Given the description of an element on the screen output the (x, y) to click on. 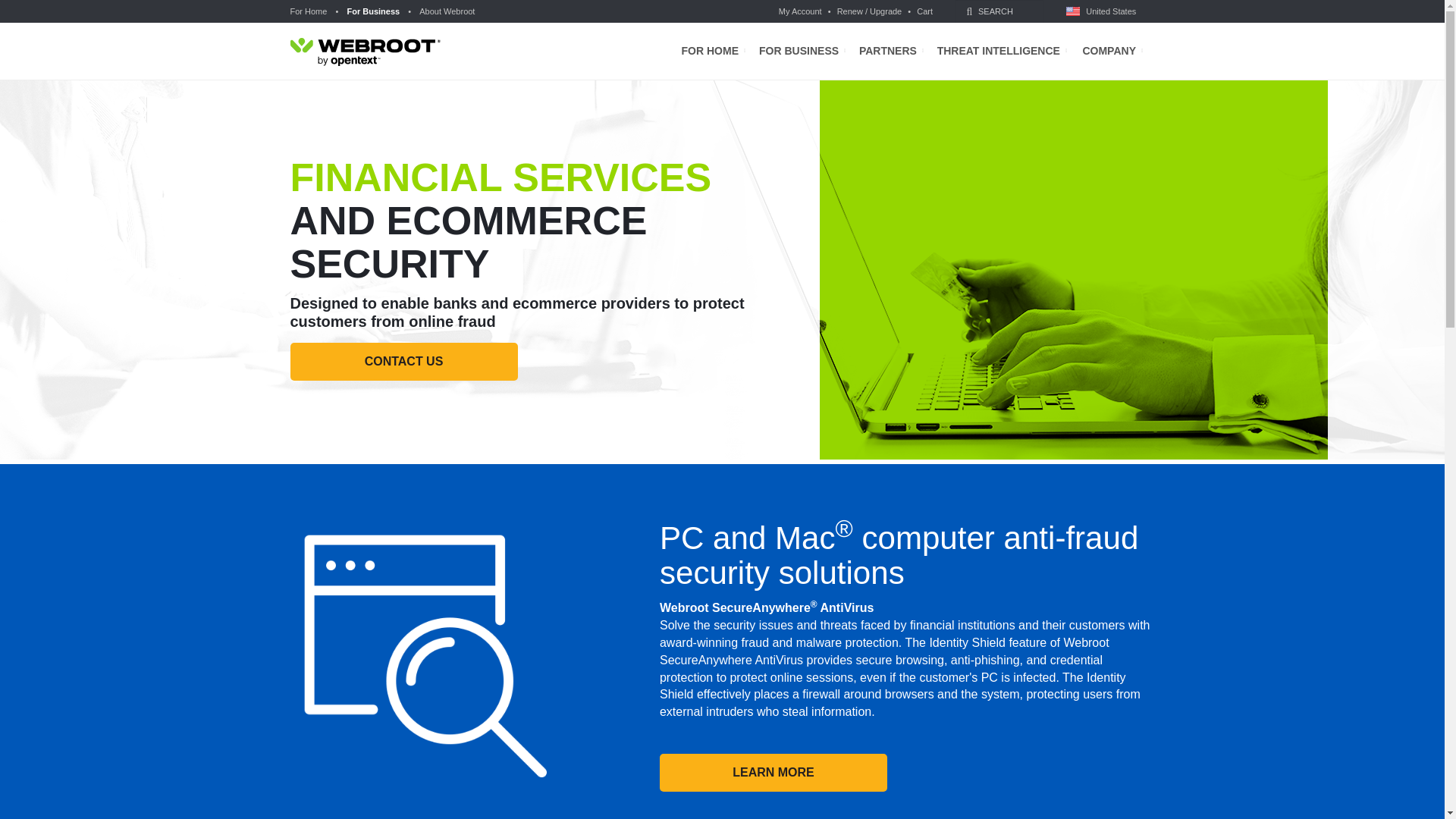
For Business (372, 10)
About Webroot (444, 10)
For Home (309, 10)
Cart (922, 10)
My Account (801, 10)
FOR HOME (713, 50)
United States (1102, 10)
